Given the description of an element on the screen output the (x, y) to click on. 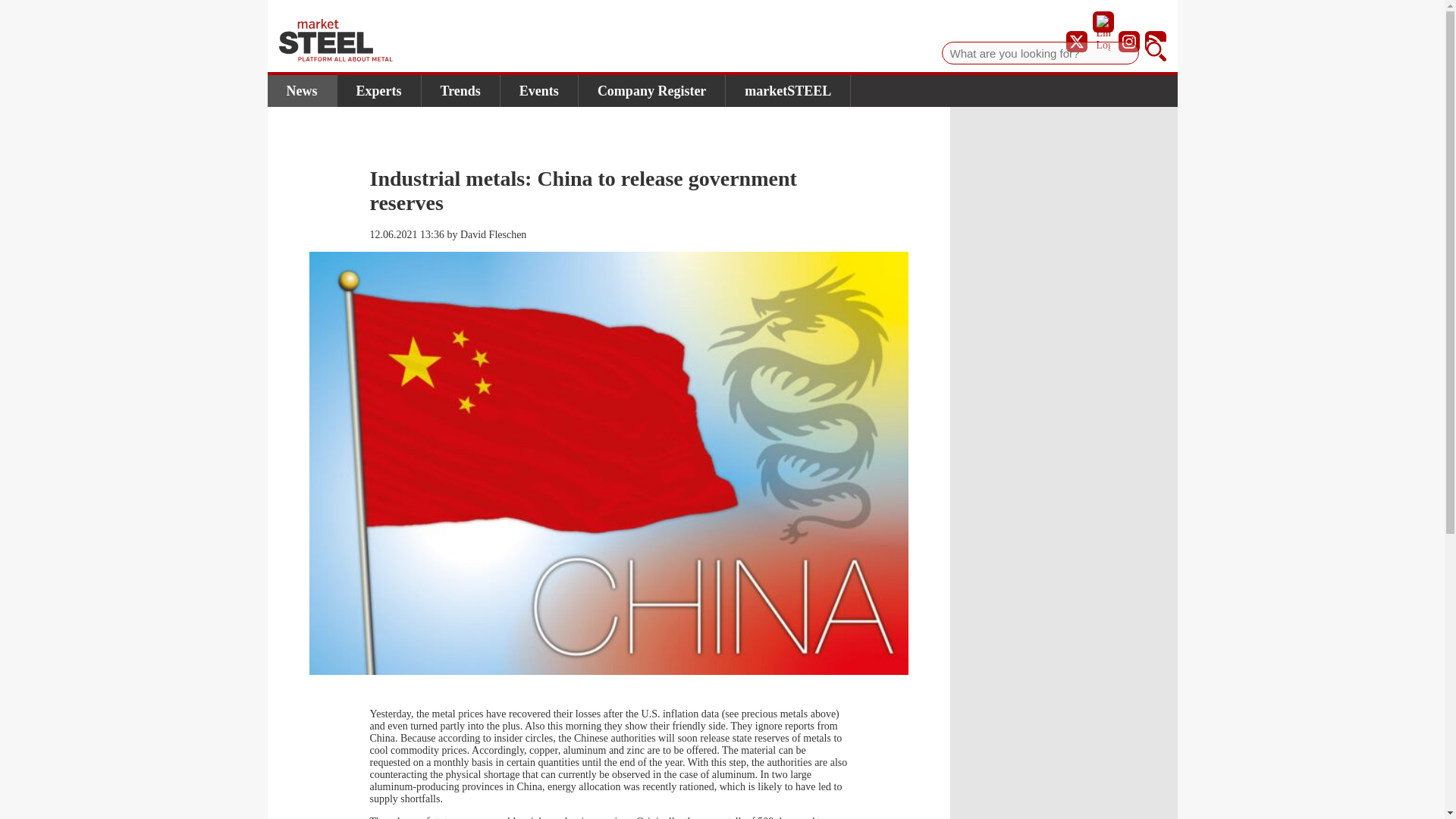
Trends (461, 91)
Experts (378, 91)
News (301, 91)
Trends (461, 91)
News (301, 91)
Experts (378, 91)
